Given the description of an element on the screen output the (x, y) to click on. 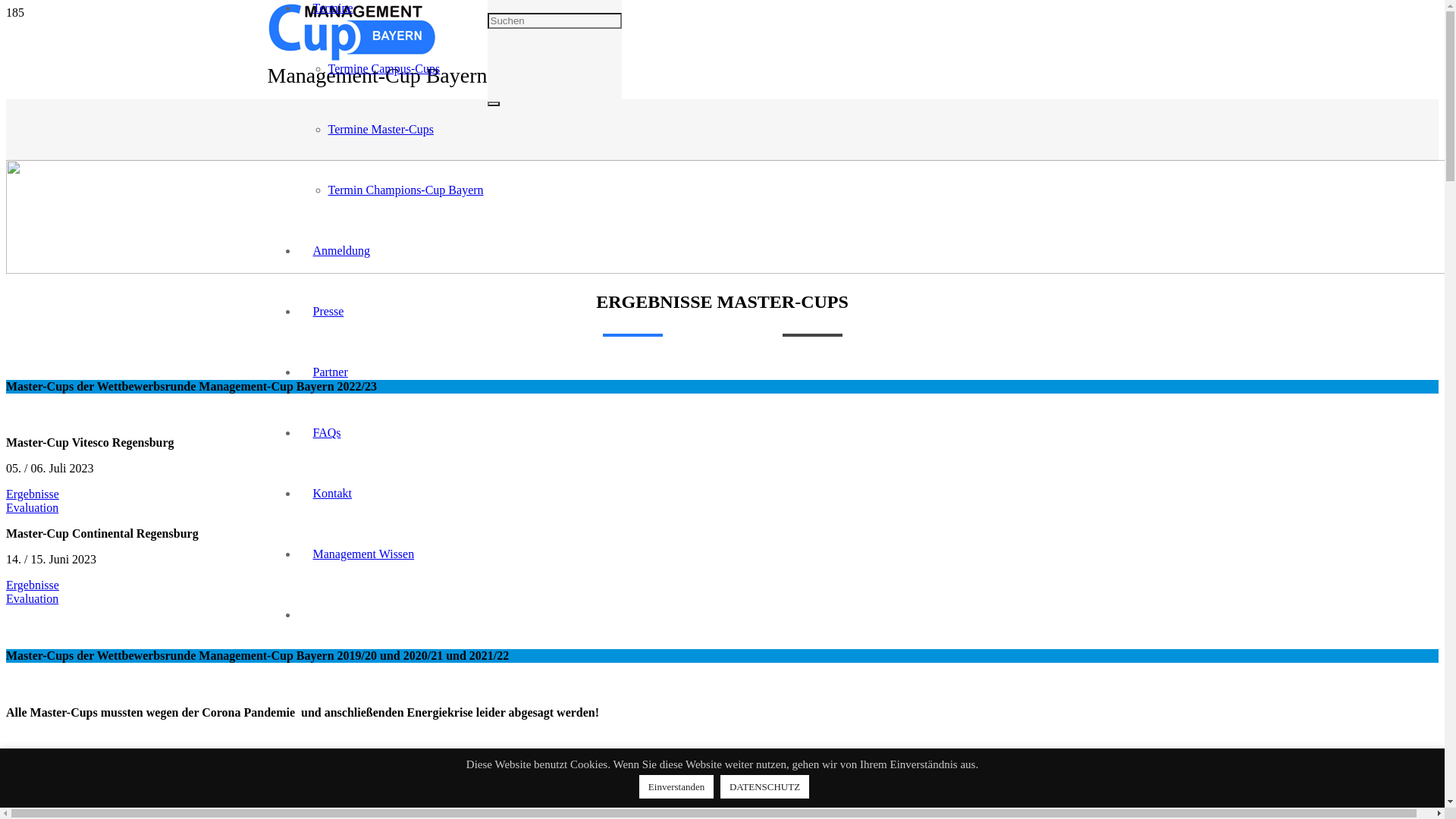
Termin Champions-Cup Bayern Element type: text (405, 189)
Evaluation Element type: text (32, 507)
Ergebnisse Element type: text (32, 493)
FAQs Element type: text (326, 432)
Termine Campus-Cups Element type: text (383, 68)
Termine Element type: text (332, 7)
Partner Element type: text (329, 371)
Ergebnisse Element type: text (32, 584)
Kontakt Element type: text (332, 492)
Termine Master-Cups Element type: text (380, 128)
Presse Element type: text (327, 310)
Management Wissen Element type: text (363, 553)
Anmeldung Element type: text (341, 250)
Evaluation Element type: text (32, 598)
Einverstanden Element type: text (676, 786)
DATENSCHUTZ Element type: text (764, 786)
